Given the description of an element on the screen output the (x, y) to click on. 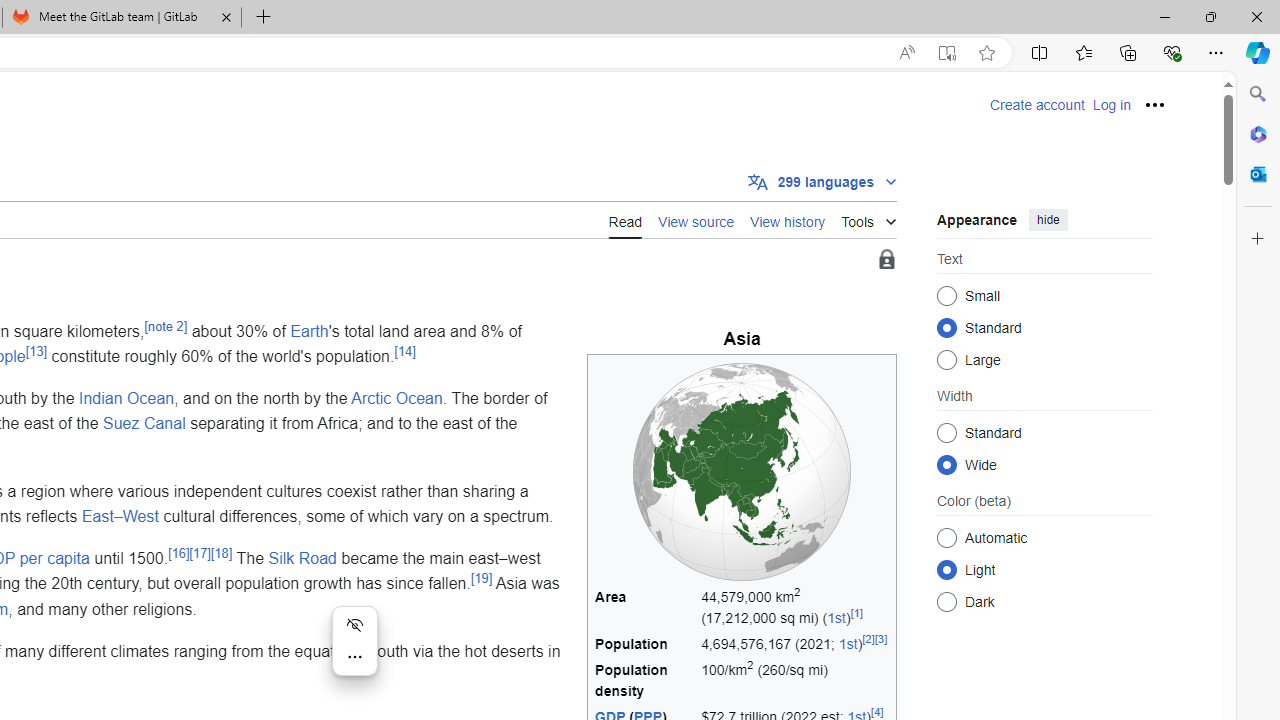
Indian Ocean (127, 397)
Population (645, 643)
[2] (868, 638)
Class: infobox-image (741, 471)
[note 2] (165, 326)
[13] (36, 350)
Standard (946, 431)
Hide menu (354, 624)
Create account (1037, 105)
